Given the description of an element on the screen output the (x, y) to click on. 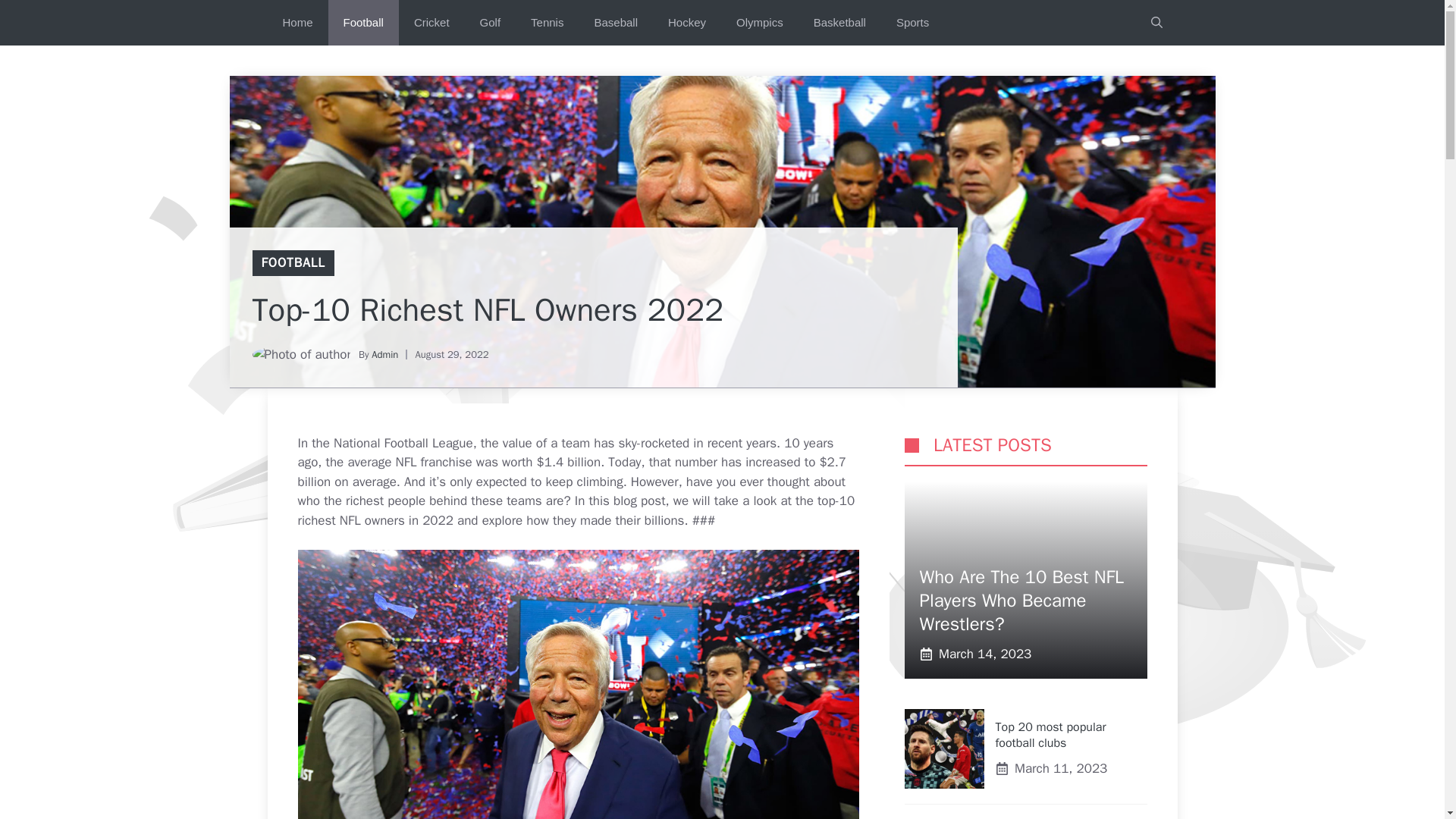
Golf (490, 22)
Basketball (838, 22)
Cricket (431, 22)
Tennis (546, 22)
FOOTBALL (292, 262)
Who Are The 10 Best NFL Players Who Became Wrestlers? (1020, 600)
Home (296, 22)
Top 20 most popular football clubs (1049, 735)
Hockey (686, 22)
Football (363, 22)
Admin (384, 354)
Olympics (758, 22)
Baseball (615, 22)
SORRY, YOUR BROWSER DOES NOT SUPPORT INLINE SVG. (911, 445)
Sports (911, 22)
